Given the description of an element on the screen output the (x, y) to click on. 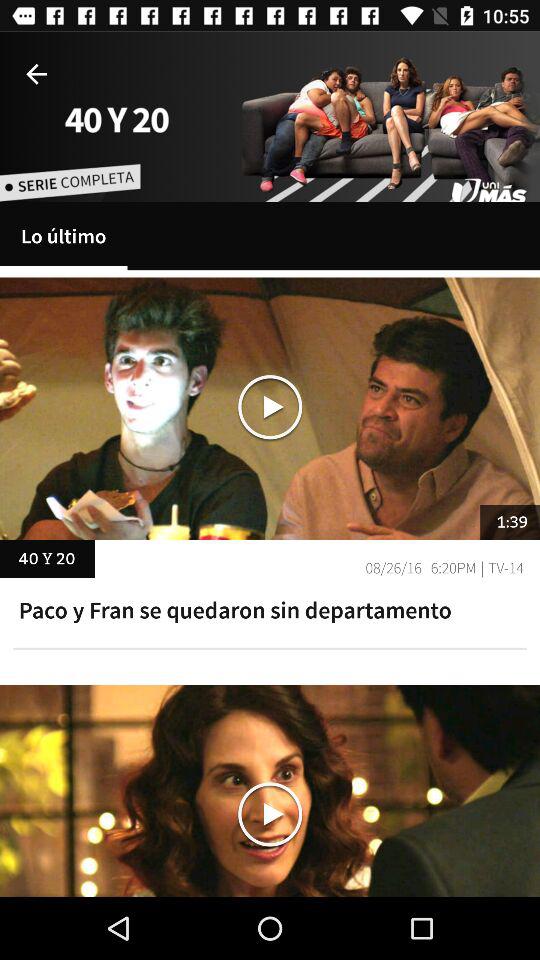
go back (36, 74)
